Given the description of an element on the screen output the (x, y) to click on. 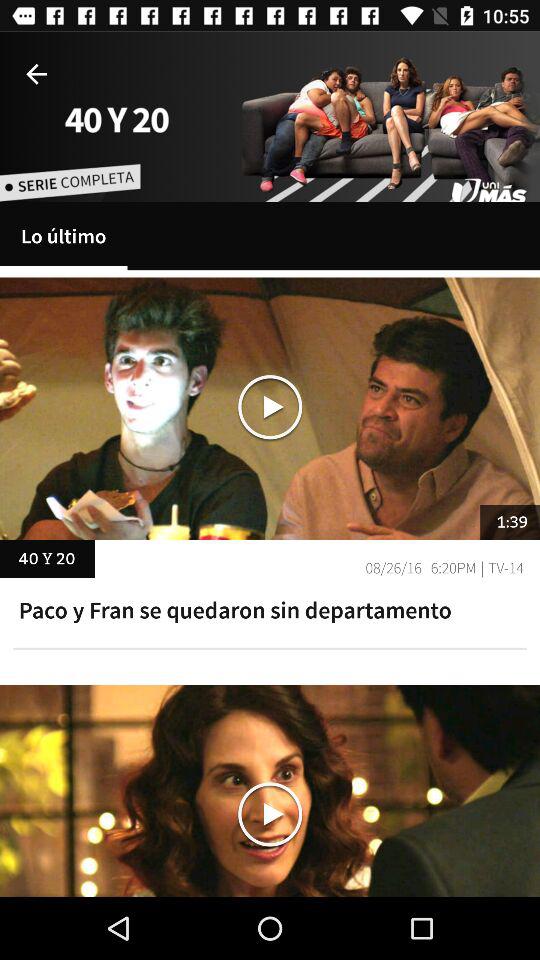
go back (36, 74)
